Given the description of an element on the screen output the (x, y) to click on. 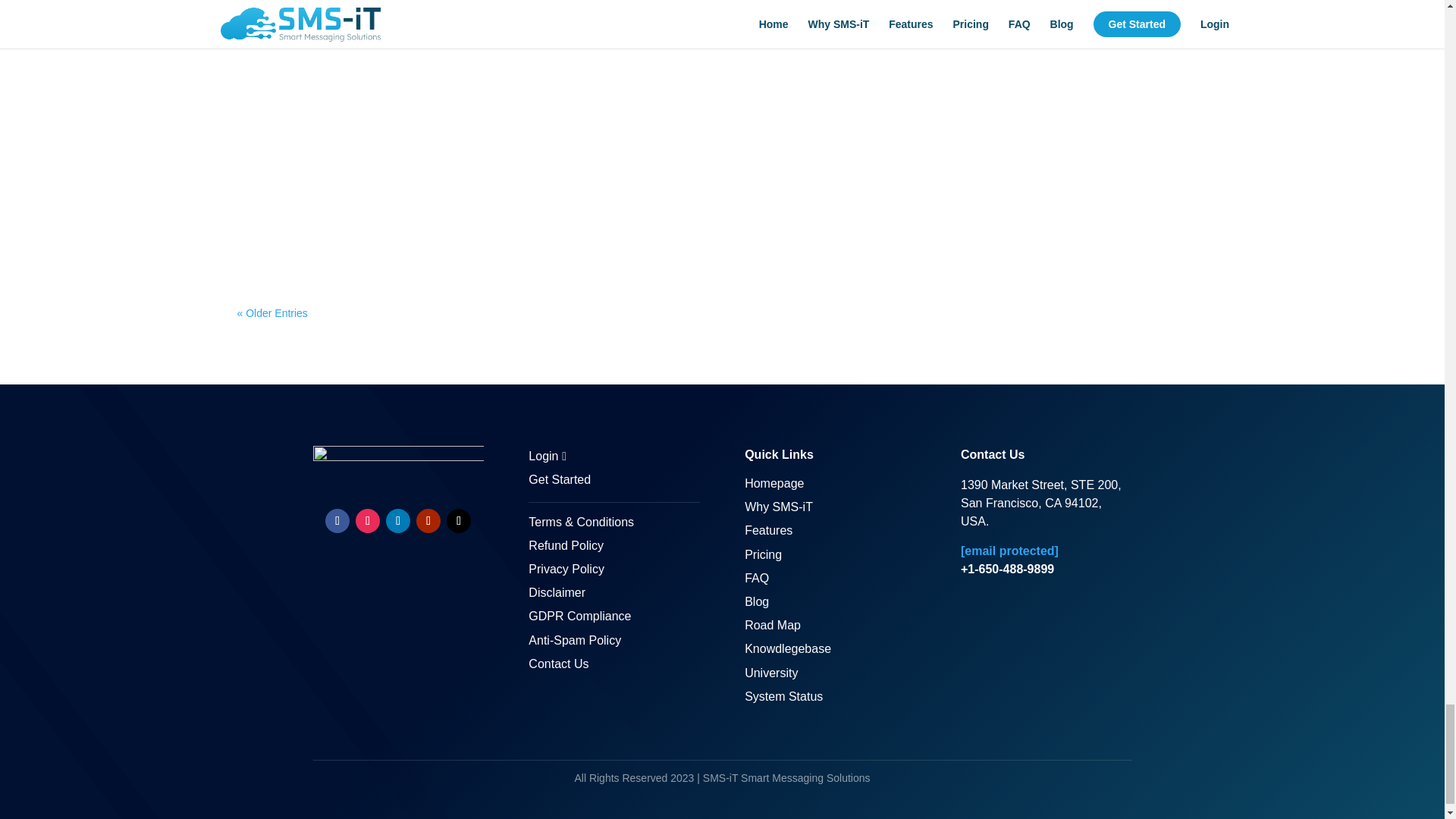
Follow on Instagram (367, 520)
Follow on Youtube (428, 520)
Follow on Facebook (336, 520)
logo-sm (398, 465)
Follow on LinkedIn (397, 520)
